Given the description of an element on the screen output the (x, y) to click on. 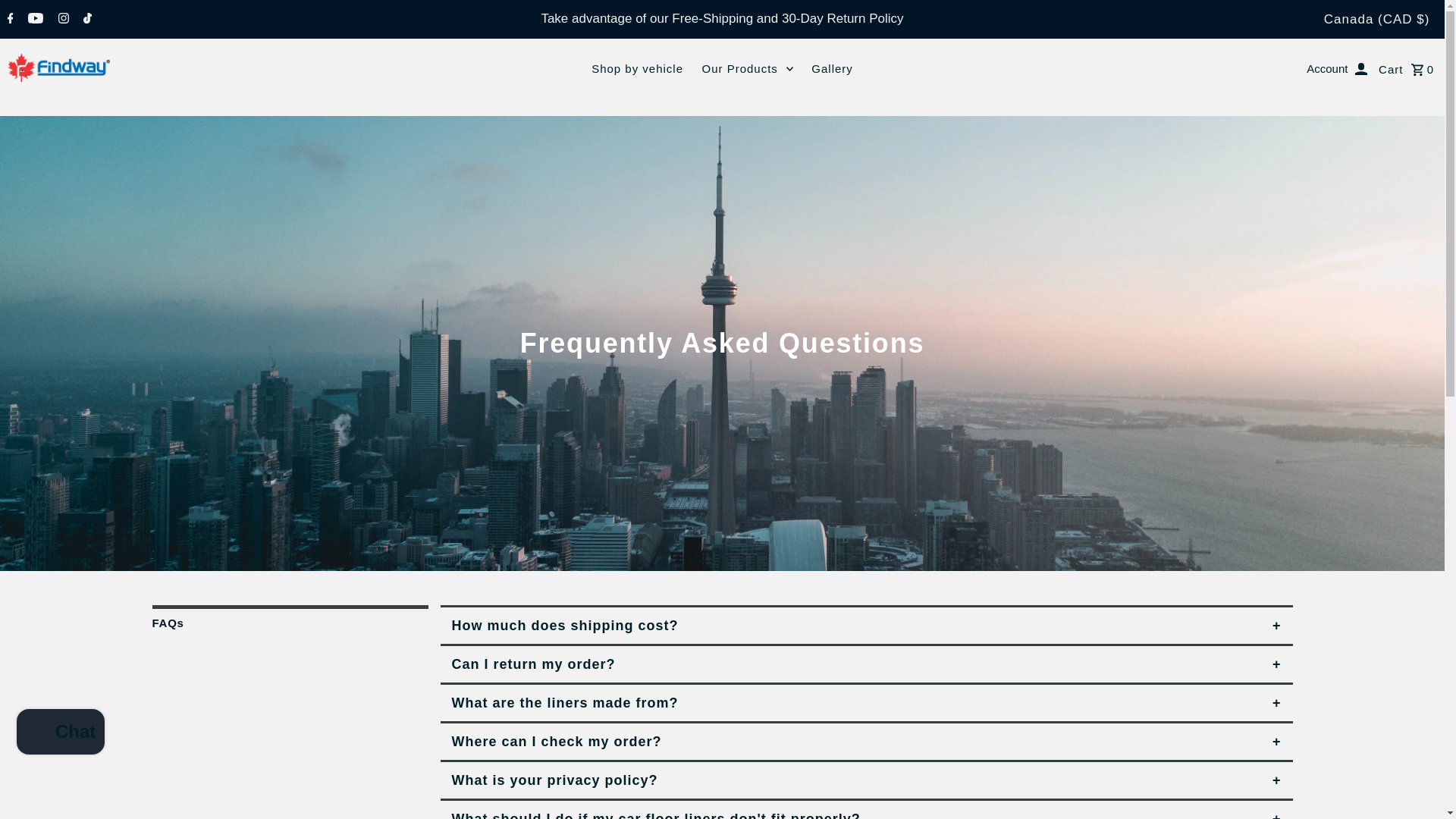
Can I return my order? (865, 665)
Gallery (831, 68)
Shopify online store chat (60, 733)
Where can I check my order? (865, 742)
What are the liners made from? (865, 703)
How much does shipping cost? (865, 625)
Shop by vehicle (636, 68)
Our Products (746, 68)
What is your privacy policy? (865, 781)
What should I do if my car floor liners don't fit properly? (865, 809)
